Given the description of an element on the screen output the (x, y) to click on. 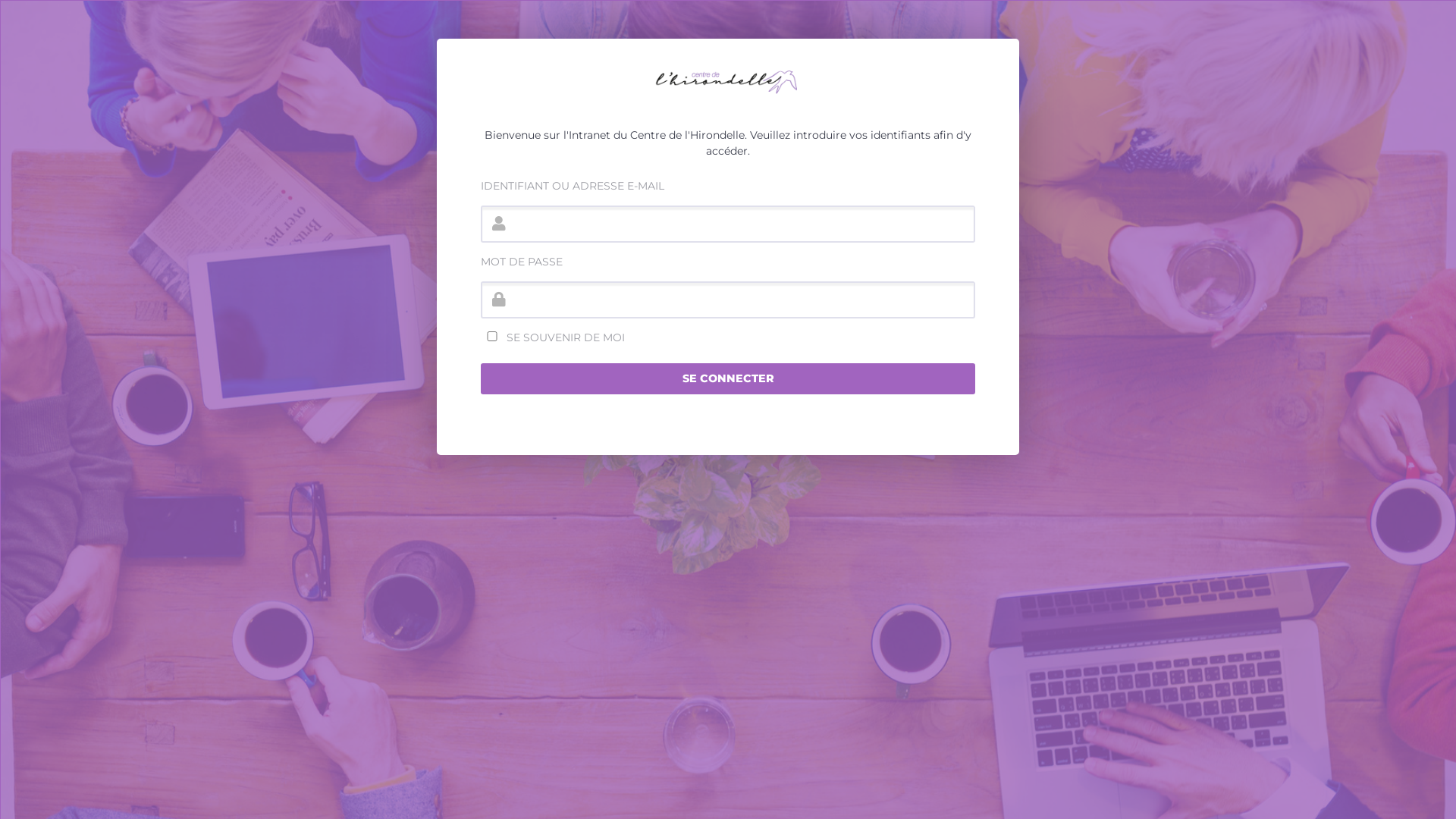
Se connecter Element type: text (727, 379)
